Given the description of an element on the screen output the (x, y) to click on. 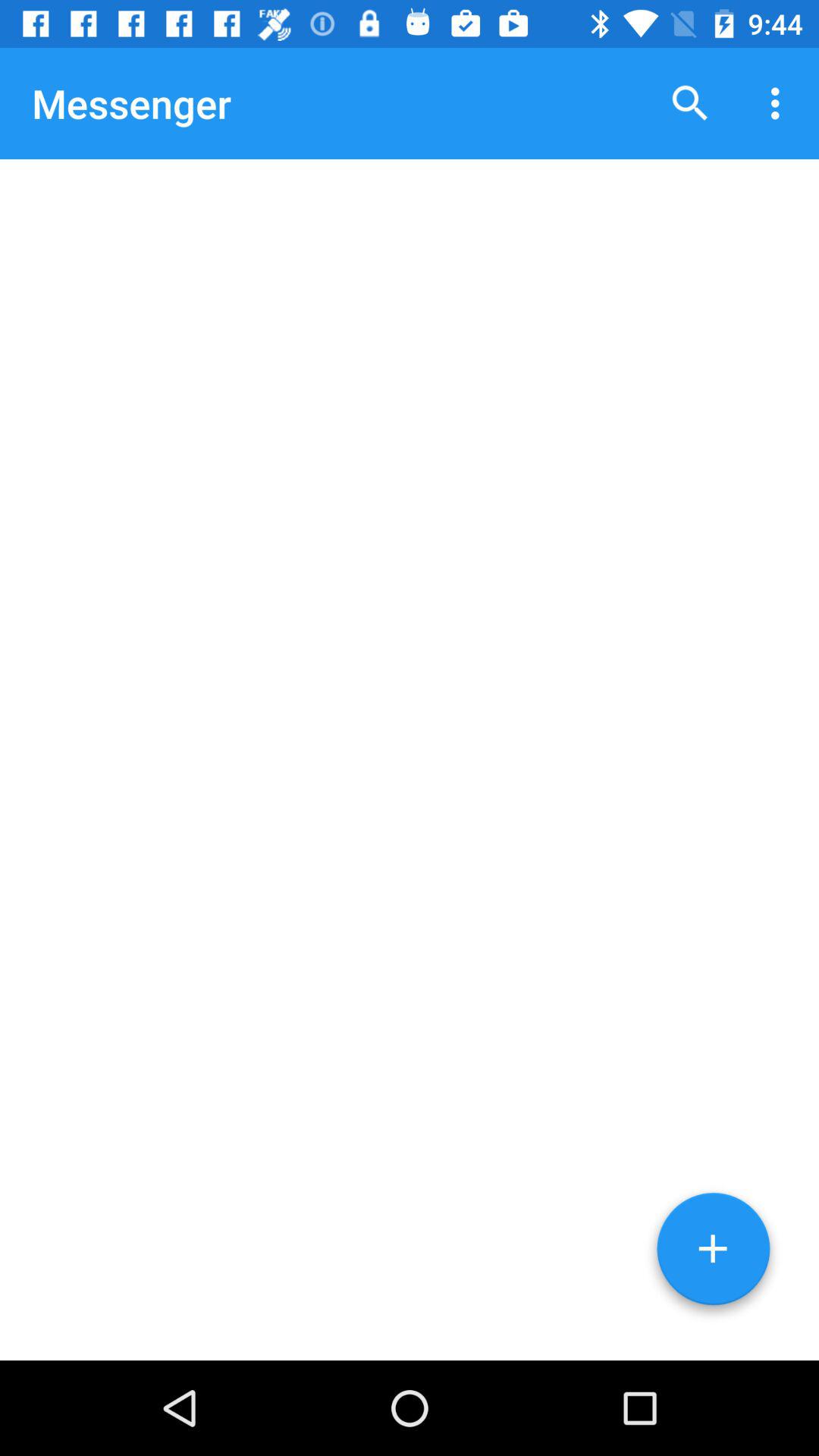
start new message (713, 1254)
